Given the description of an element on the screen output the (x, y) to click on. 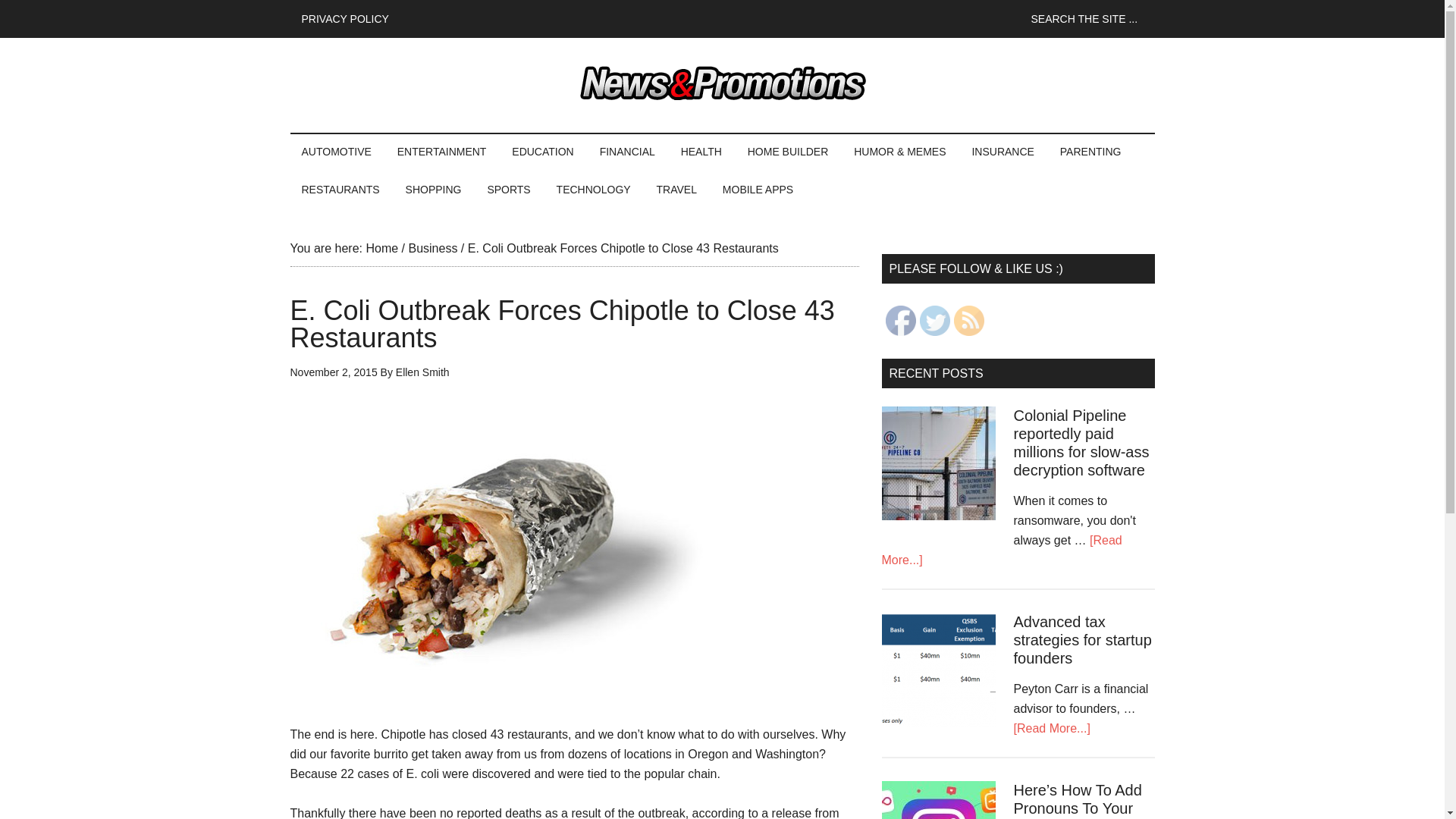
HEALTH (701, 151)
Ellen Smith (422, 372)
Twitter (933, 320)
SPORTS (508, 189)
PRIVACY POLICY (343, 18)
ENTERTAINMENT (441, 151)
AUTOMOTIVE (335, 151)
SHOPPING (433, 189)
Home (381, 247)
